Given the description of an element on the screen output the (x, y) to click on. 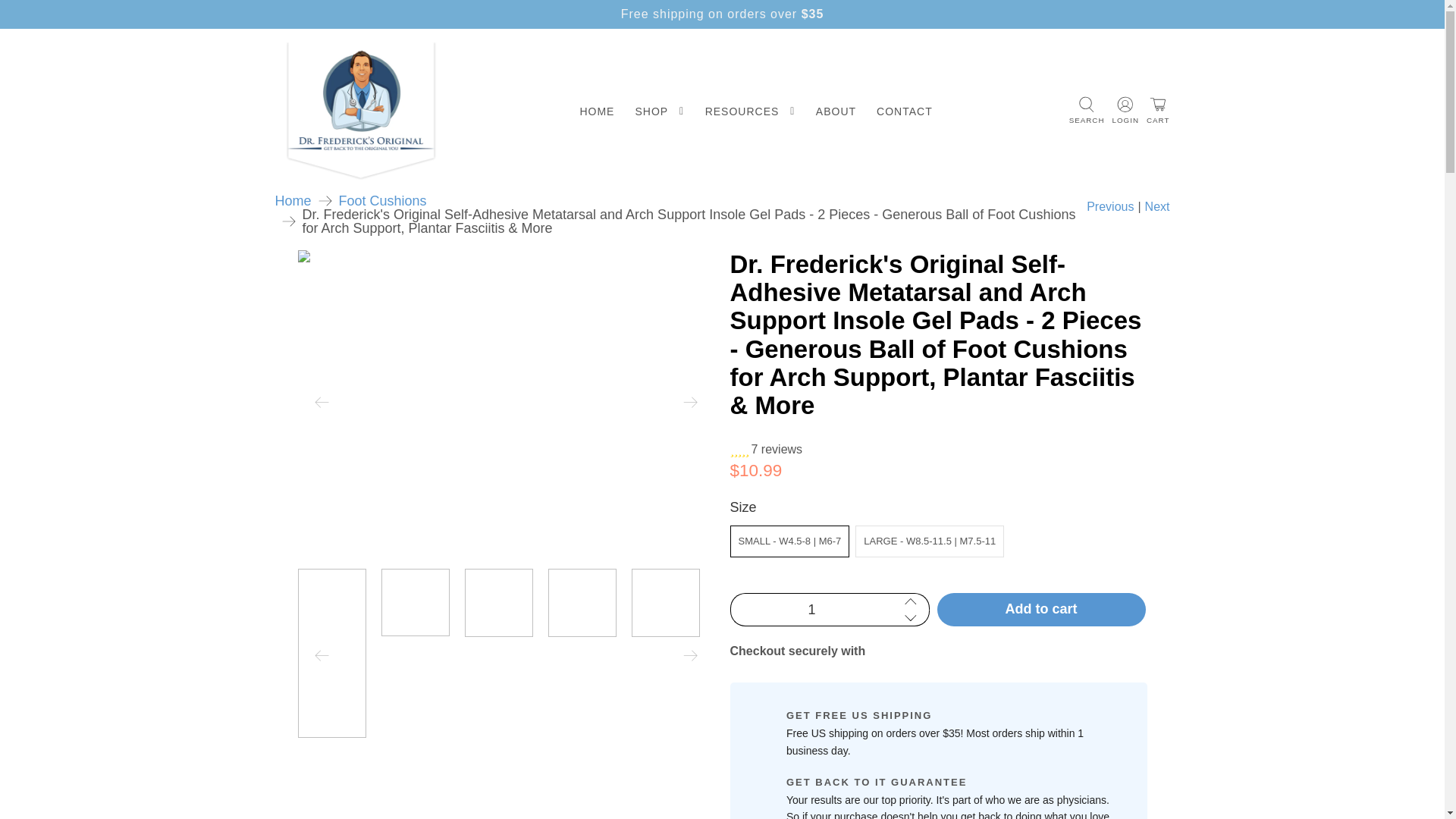
HOME (596, 111)
SHOP (659, 111)
Dr. Frederick's Original (293, 201)
1 (810, 609)
Dr. Frederick's Original (360, 111)
Previous (1110, 207)
RESOURCES (749, 111)
Foot Cushions (382, 201)
Next (1157, 207)
